Given the description of an element on the screen output the (x, y) to click on. 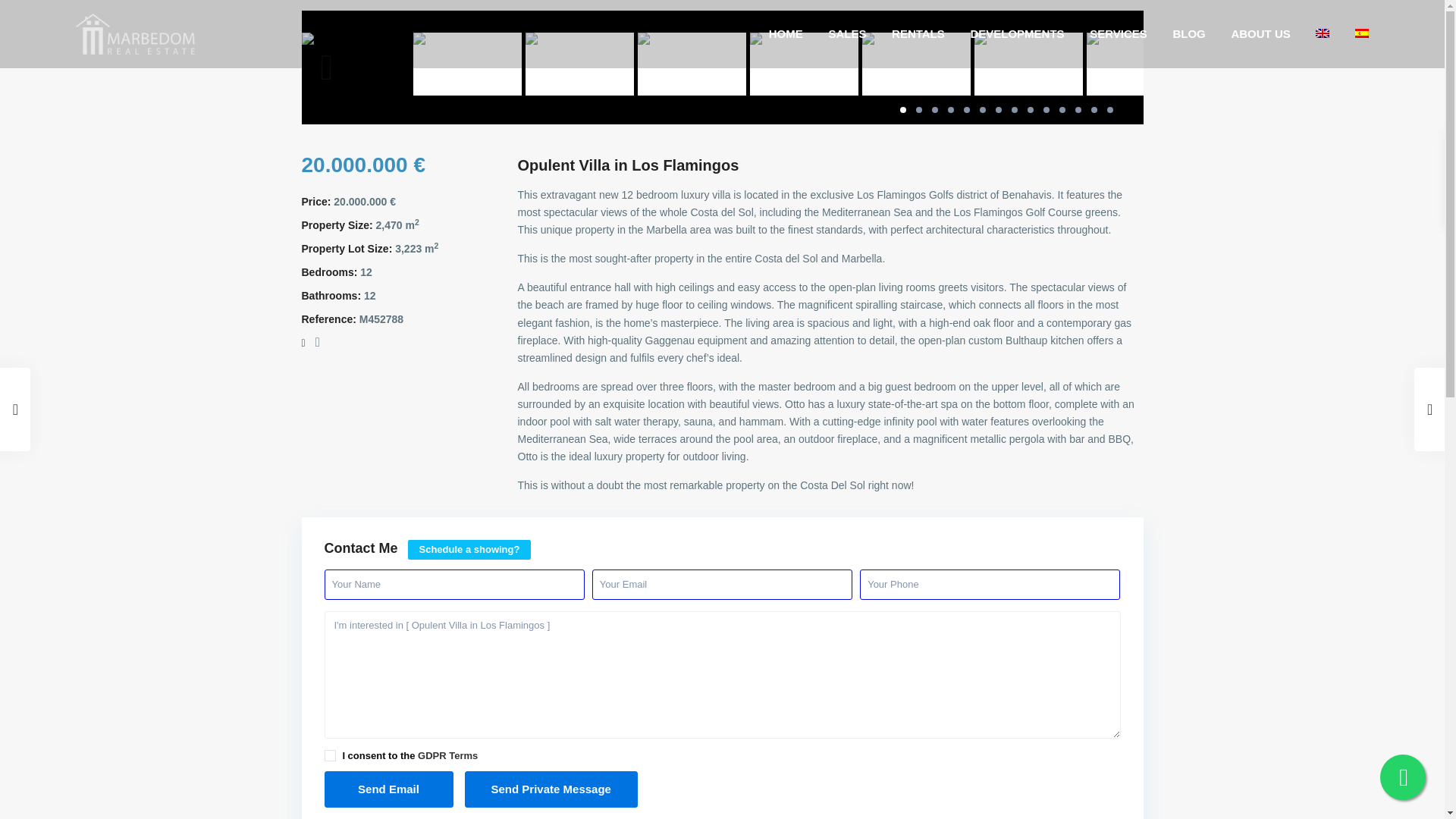
RENTALS (918, 33)
Send Private Message (550, 789)
New developments  (1016, 33)
Rentals in Marbella (918, 33)
Send Email (388, 789)
on (330, 755)
